Given the description of an element on the screen output the (x, y) to click on. 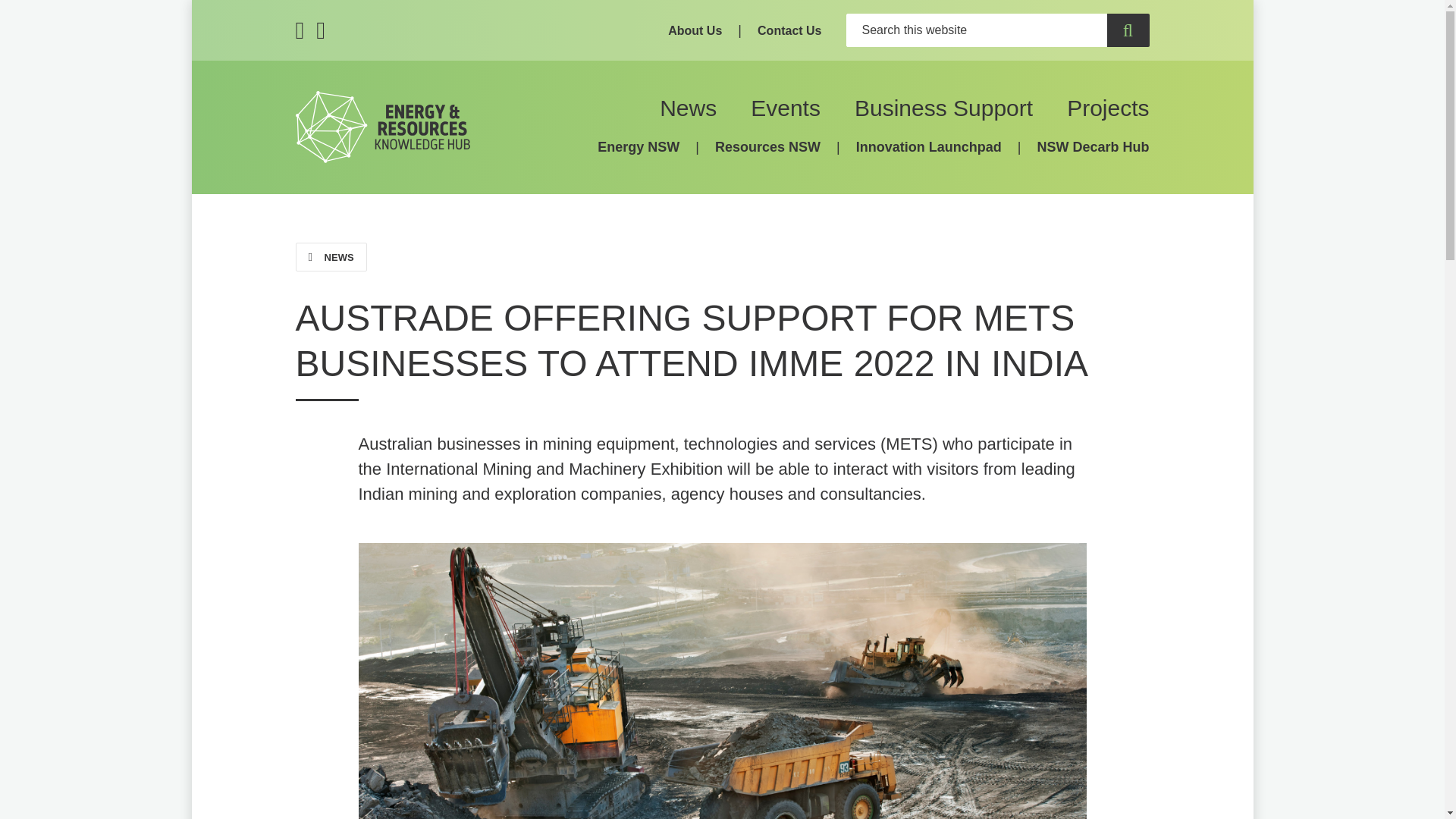
About Us (695, 30)
Events (786, 108)
Projects (1107, 108)
Business Support (943, 108)
Energy NSW (637, 146)
NSW Decarb Hub (1092, 146)
Contact Us (789, 30)
Resources NSW (767, 146)
Innovation Launchpad (928, 146)
NEWS (330, 256)
News (687, 108)
